Given the description of an element on the screen output the (x, y) to click on. 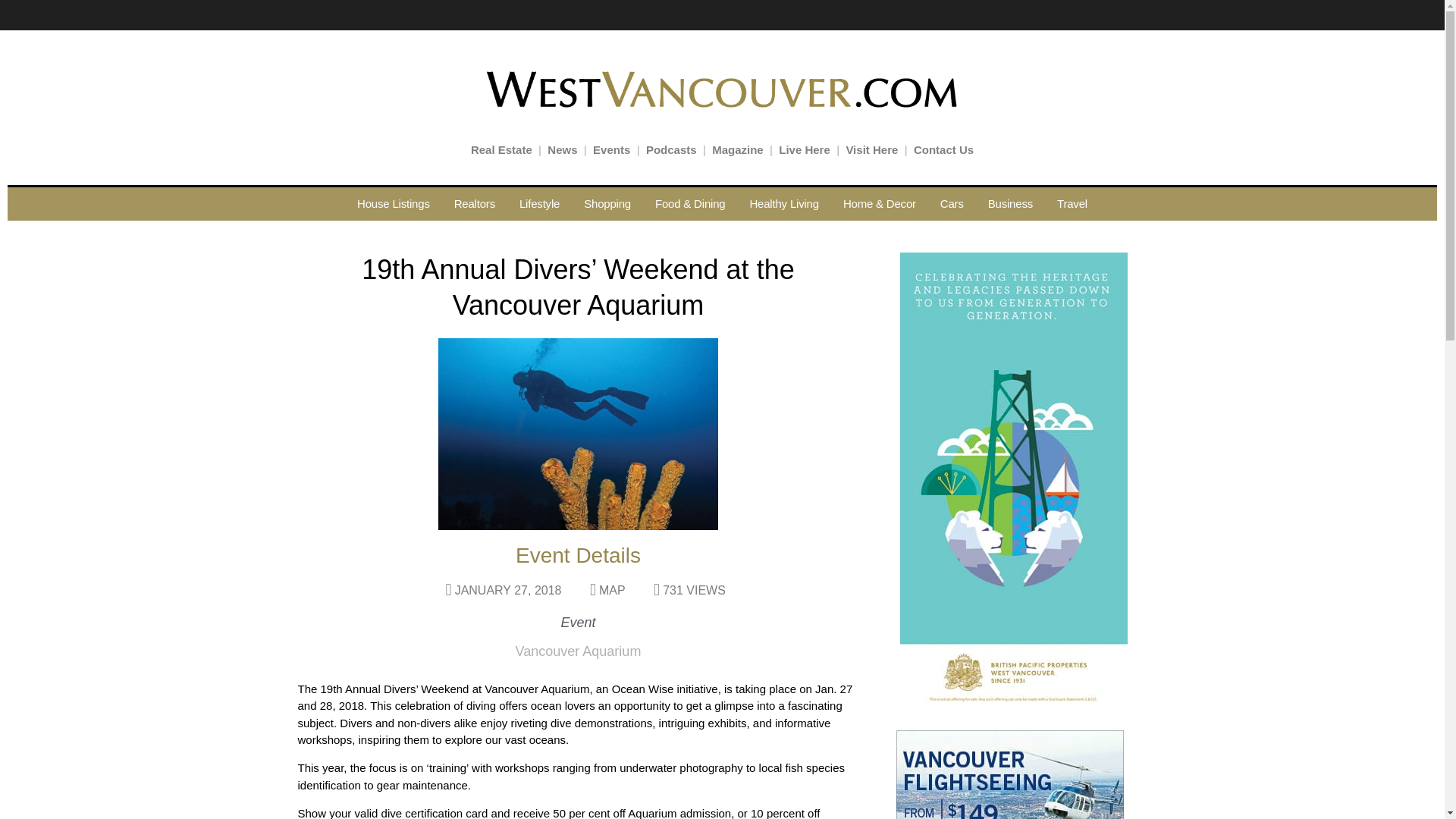
Shopping (607, 203)
News (561, 149)
Live Here (803, 149)
Events (611, 149)
House Listings (393, 203)
Lifestyle (539, 203)
Real Estate (501, 149)
Visit Here (871, 149)
Magazine (736, 149)
Healthy Living (782, 203)
Realtors (474, 203)
Contact Us (944, 149)
Podcasts (671, 149)
